Given the description of an element on the screen output the (x, y) to click on. 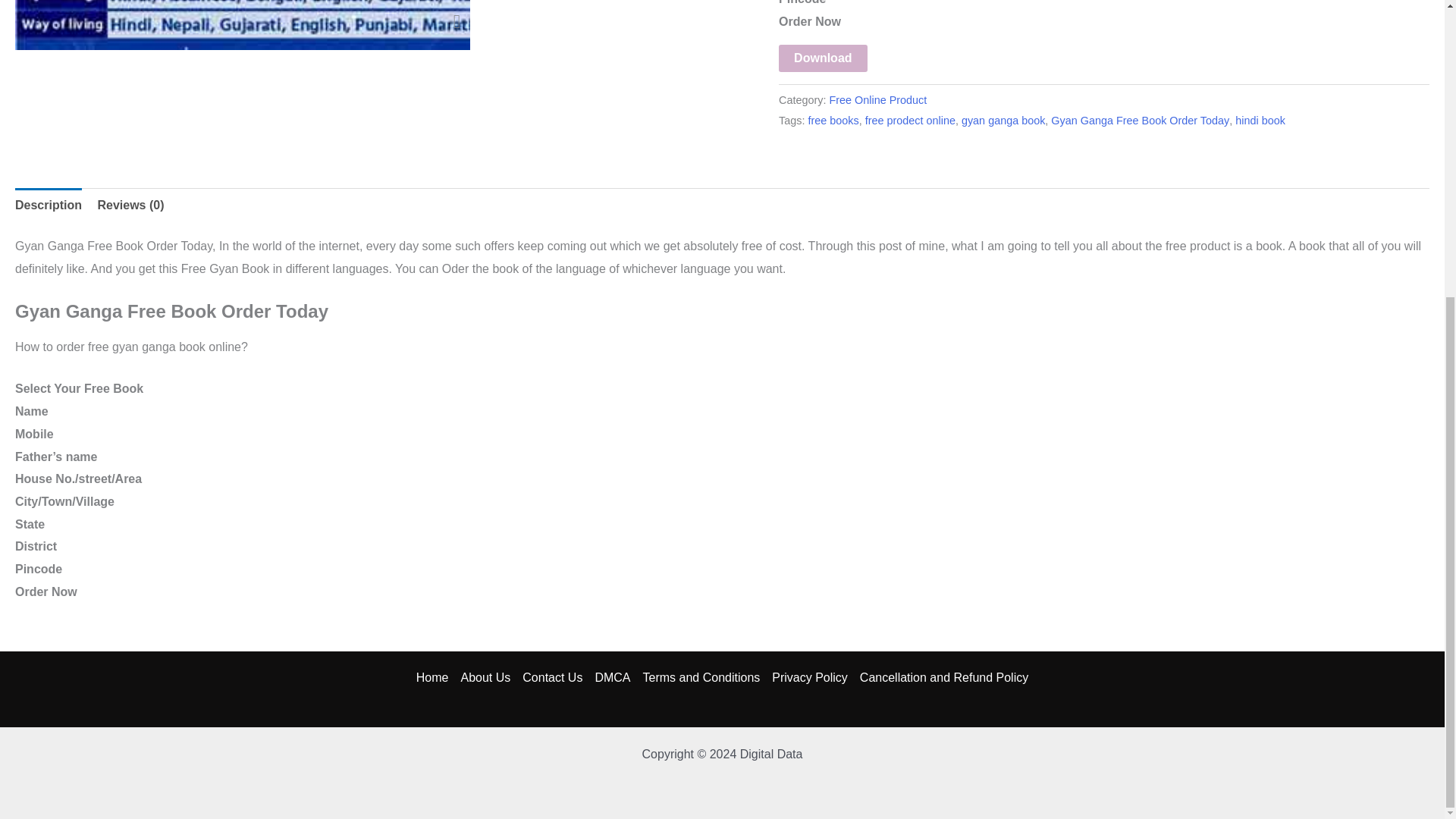
hindi book (1259, 120)
DMCA (612, 677)
gyan ganga book (1002, 120)
Free Online Product (878, 100)
free books (833, 120)
Gyan Ganga Free Book Order Today (1139, 120)
About Us (485, 677)
free prodect online (909, 120)
Contact Us (552, 677)
Gyan-Ganga-Free-Book-Order-Today (456, 21)
Download (822, 58)
Description (47, 205)
Home (435, 677)
